Given the description of an element on the screen output the (x, y) to click on. 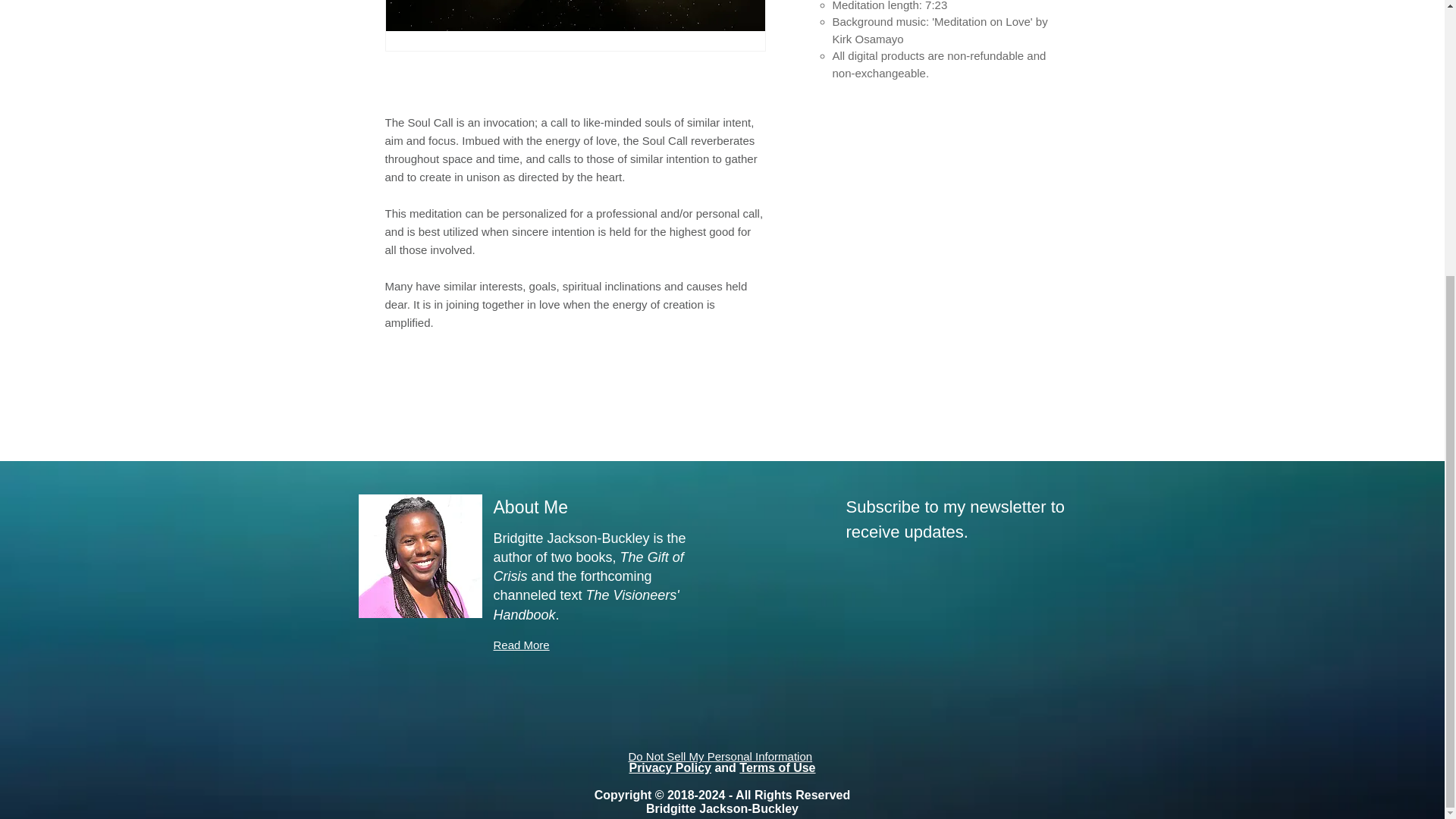
Terms of Use (777, 767)
Privacy Policy (669, 767)
Do Not Sell My Personal Information (719, 756)
Read More (520, 644)
